Given the description of an element on the screen output the (x, y) to click on. 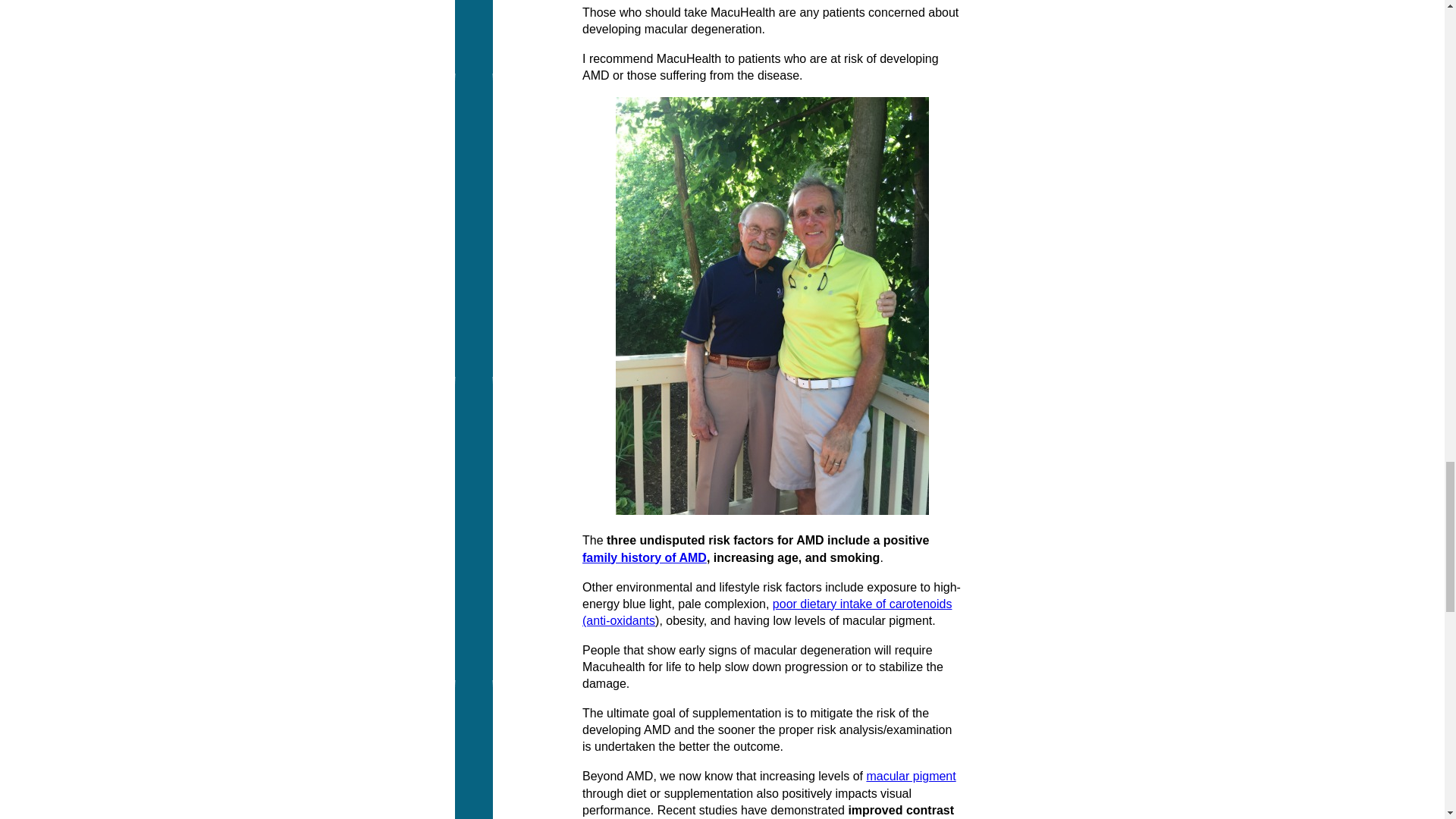
family history of AMD (644, 557)
macular pigment (910, 775)
